Given the description of an element on the screen output the (x, y) to click on. 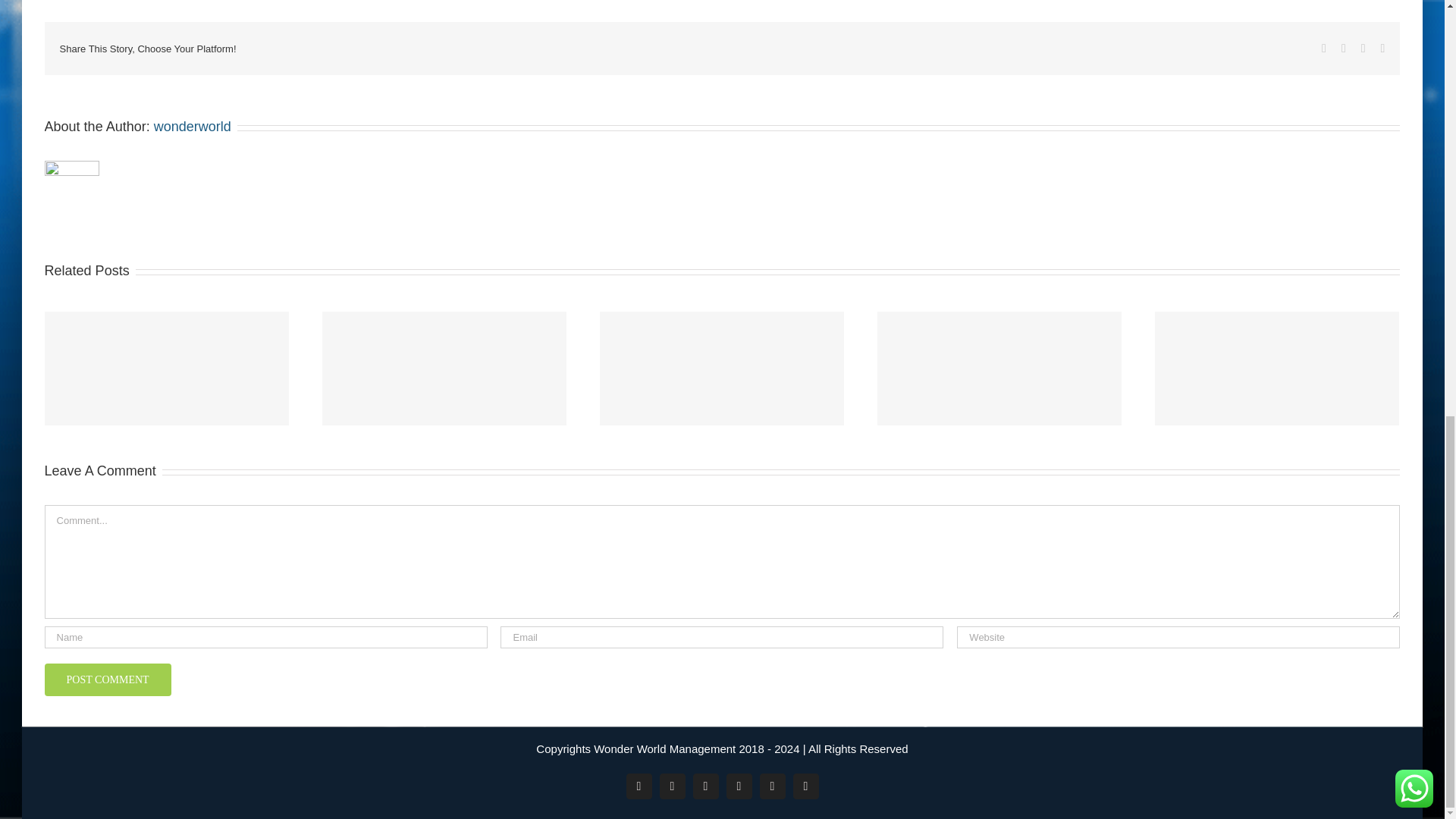
Post Comment (108, 679)
Posts by wonderworld (192, 126)
